Given the description of an element on the screen output the (x, y) to click on. 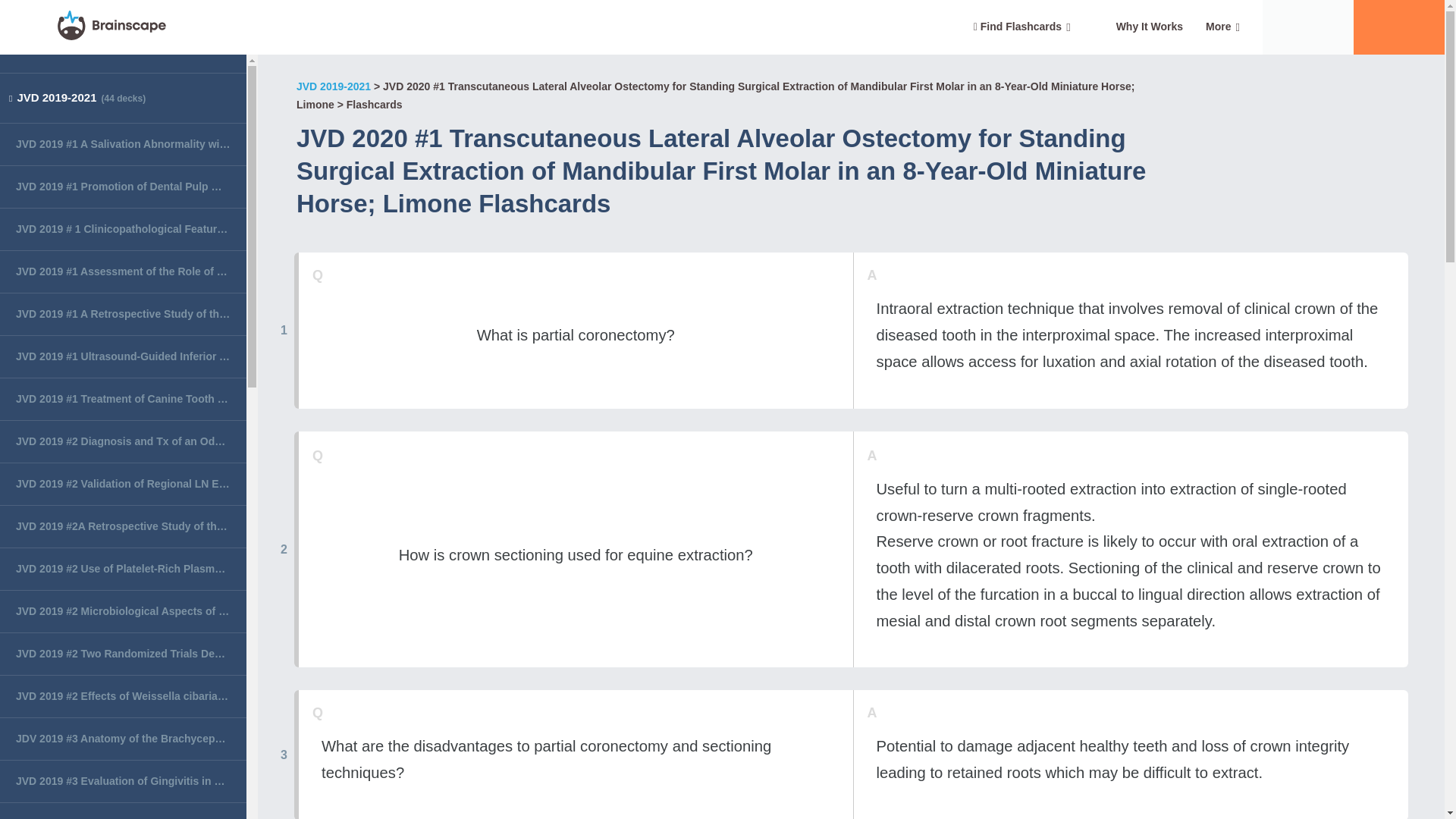
Find Flashcards (1022, 27)
Brainscape (111, 27)
JVD 2019-2021 (334, 86)
Why It Works (1149, 27)
